Given the description of an element on the screen output the (x, y) to click on. 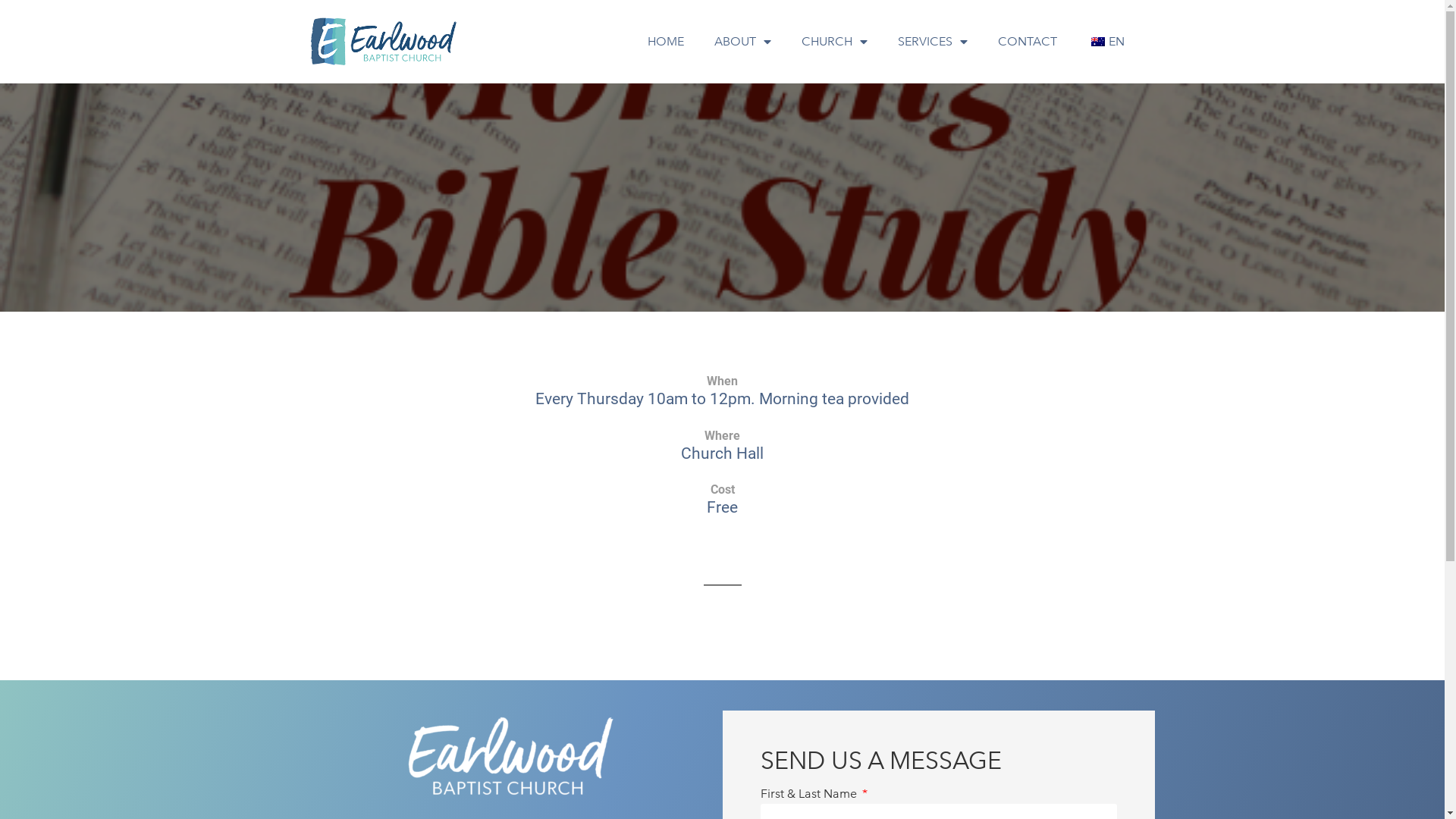
EN Element type: text (1105, 41)
CONTACT Element type: text (1027, 41)
HOME Element type: text (665, 41)
ABOUT Element type: text (742, 41)
CHURCH Element type: text (833, 41)
English Element type: hover (1097, 41)
SERVICES Element type: text (932, 41)
